Given the description of an element on the screen output the (x, y) to click on. 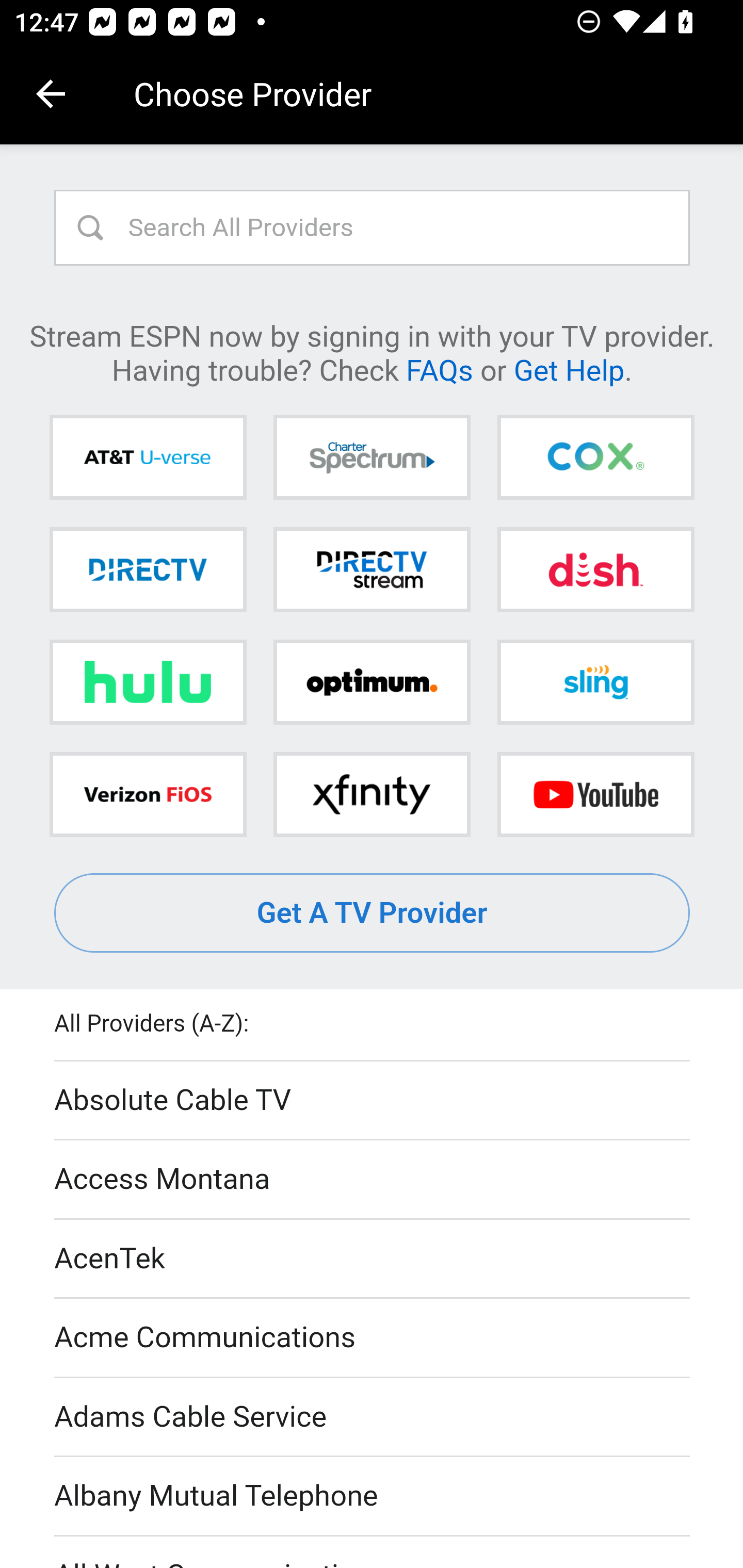
Navigate up (50, 93)
FAQs (438, 369)
Get Help (569, 369)
AT&T U-verse (147, 457)
Charter Spectrum (371, 457)
Cox (595, 457)
DIRECTV (147, 568)
DIRECTV STREAM (371, 568)
DISH (595, 568)
Hulu (147, 681)
Optimum (371, 681)
Sling TV (595, 681)
Verizon FiOS (147, 793)
Xfinity (371, 793)
YouTube TV (595, 793)
Get A TV Provider (372, 912)
Absolute Cable TV (372, 1100)
Access Montana (372, 1178)
AcenTek (372, 1258)
Acme Communications (372, 1338)
Adams Cable Service (372, 1417)
Albany Mutual Telephone (372, 1497)
